Given the description of an element on the screen output the (x, y) to click on. 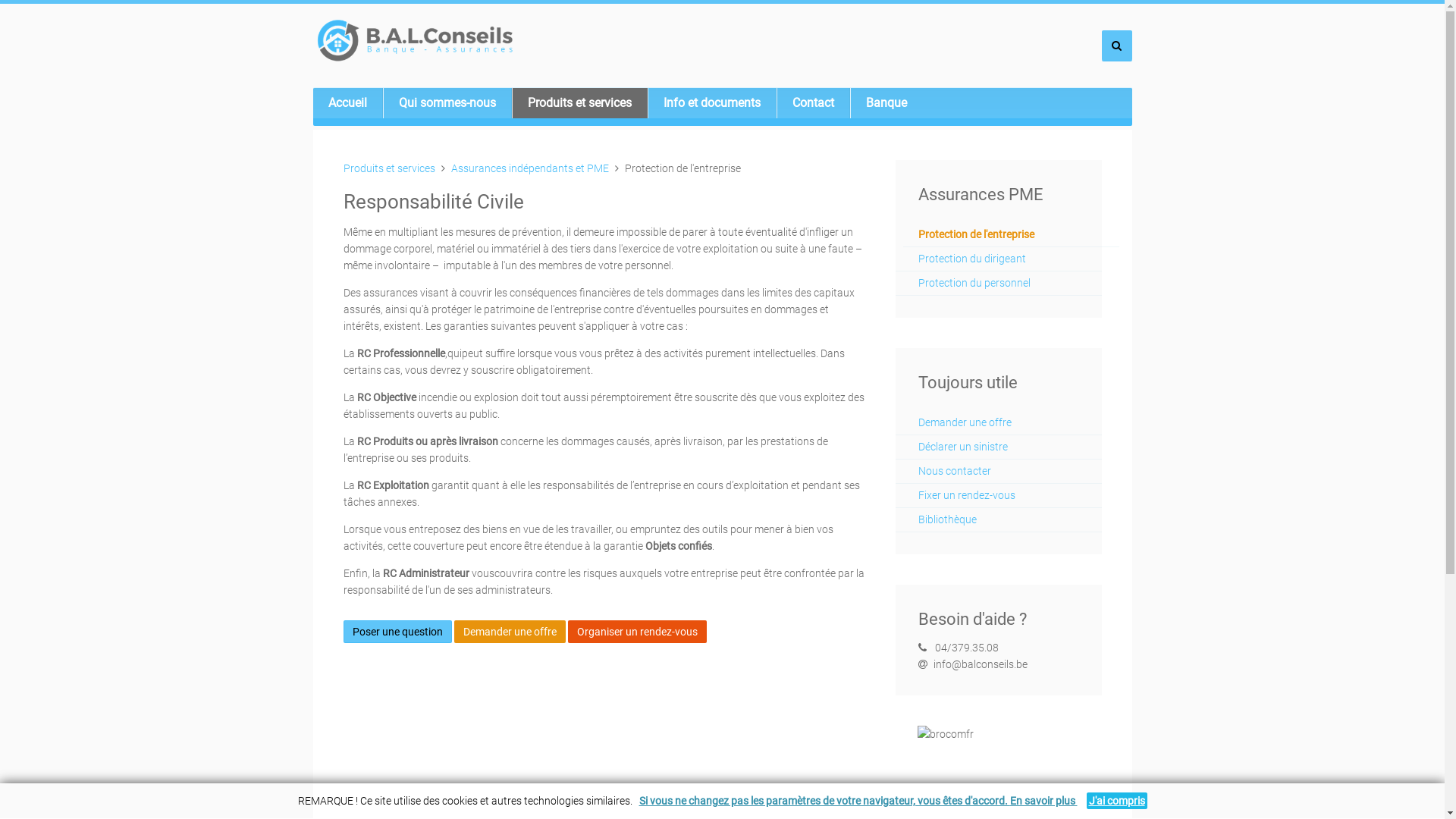
Protection de l'entreprise Element type: text (1010, 234)
Organiser un rendez-vous Element type: text (636, 630)
Info et documents Element type: text (711, 102)
Banque Element type: text (885, 102)
Produits et services Element type: text (578, 102)
Protection du dirigeant Element type: text (997, 258)
Poser une question Element type: text (396, 631)
Demander une offre Element type: text (508, 631)
Qui sommes-nous Element type: text (446, 102)
info@balconseils.be Element type: text (979, 664)
Organiser un rendez-vous Element type: text (636, 631)
Demander une offre Element type: text (508, 630)
Contact Element type: text (813, 102)
Produits et services Element type: text (388, 168)
Fixer un rendez-vous Element type: text (997, 495)
Nous contacter Element type: text (997, 470)
Demander une offre Element type: text (997, 422)
Accueil Element type: text (347, 102)
Protection du personnel Element type: text (997, 282)
Poser une question Element type: text (396, 630)
